Given the description of an element on the screen output the (x, y) to click on. 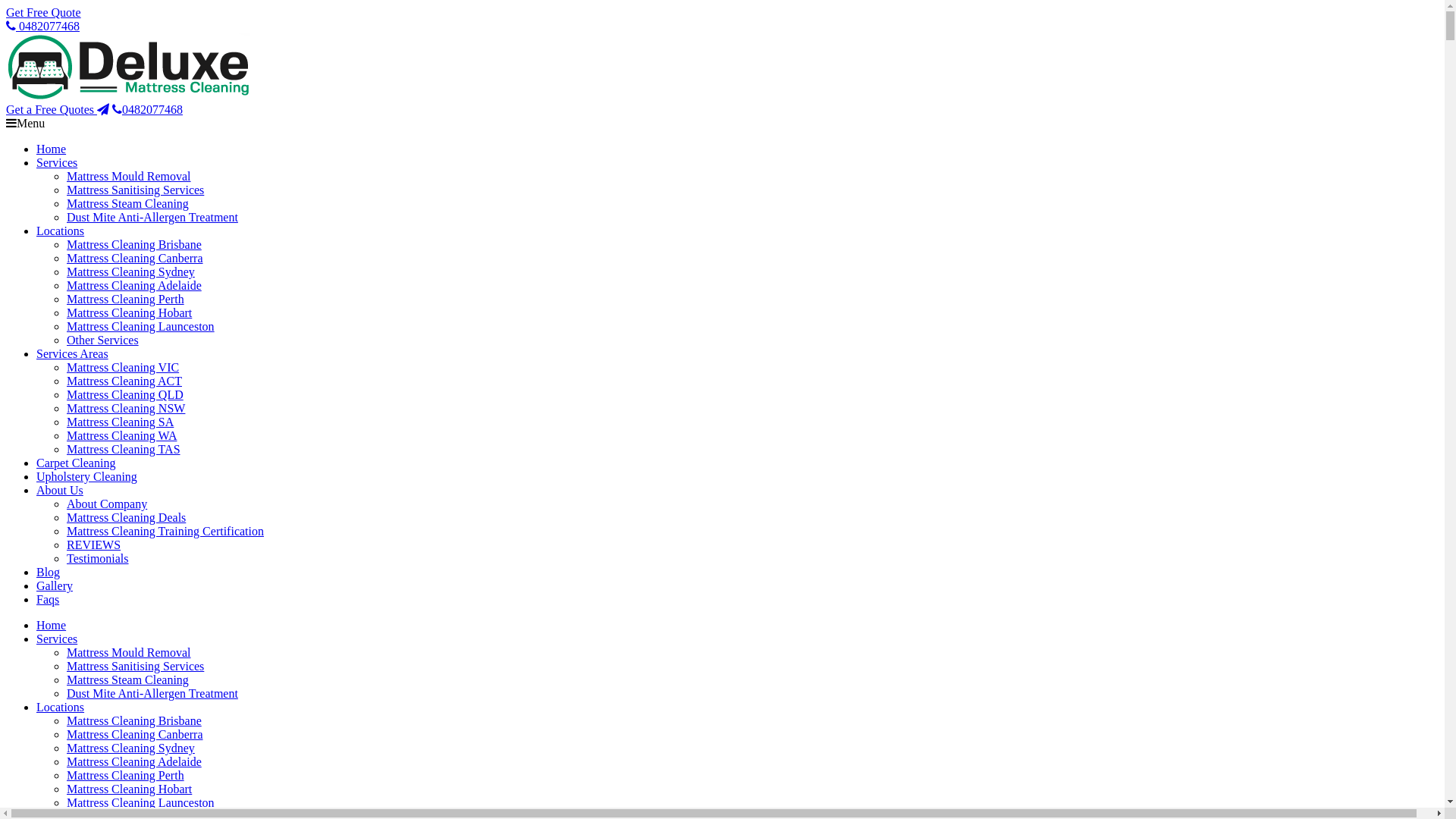
Mattress Cleaning Sydney Element type: text (130, 747)
Services Areas Element type: text (72, 353)
Home Element type: text (50, 624)
Mattress Cleaning Brisbane Element type: text (133, 720)
Mattress Cleaning Adelaide Element type: text (133, 761)
Locations Element type: text (60, 230)
Carpet Cleaning Element type: text (75, 462)
Blog Element type: text (47, 571)
Mattress Cleaning QLD Element type: text (124, 394)
Testimonials Element type: text (97, 558)
Mattress Cleaning Brisbane Element type: text (133, 244)
Mattress Cleaning Canberra Element type: text (134, 734)
Mattress Cleaning Hobart Element type: text (128, 312)
About Us Element type: text (59, 489)
Locations Element type: text (60, 706)
0482077468 Element type: text (42, 25)
Mattress Cleaning Adelaide Element type: text (133, 285)
Services Element type: text (56, 638)
Mattress Cleaning ACT Element type: text (124, 380)
Mattress Cleaning TAS Element type: text (123, 448)
Mattress Cleaning NSW Element type: text (125, 407)
Mattress Cleaning Canberra Element type: text (134, 257)
Mattress Cleaning SA Element type: text (119, 421)
Mattress Cleaning VIC Element type: text (122, 366)
Mattress Cleaning Hobart Element type: text (128, 788)
Upholstery Cleaning Element type: text (86, 476)
Mattress Cleaning Perth Element type: text (125, 298)
Mattress Cleaning Training Certification Element type: text (164, 530)
0482077468 Element type: text (147, 109)
Mattress Sanitising Services Element type: text (134, 189)
Mattress Mould Removal Element type: text (128, 652)
Faqs Element type: text (47, 599)
Mattress Cleaning Sydney Element type: text (130, 271)
Mattress Cleaning WA Element type: text (121, 435)
Get Free Quote Element type: text (43, 12)
About Company Element type: text (106, 503)
Gallery Element type: text (54, 585)
Mattress Mould Removal Element type: text (128, 175)
Mattress Cleaning Deals Element type: text (125, 517)
Mattress Cleaning Launceston Element type: text (140, 326)
Other Services Element type: text (102, 339)
Get a Free Quotes Element type: text (57, 109)
Dust Mite Anti-Allergen Treatment Element type: text (152, 216)
Mattress Cleaning Perth Element type: text (125, 774)
REVIEWS Element type: text (93, 544)
Mattress Sanitising Services Element type: text (134, 665)
Services Element type: text (56, 162)
Mattress Steam Cleaning Element type: text (127, 203)
Mattress Steam Cleaning Element type: text (127, 679)
Home Element type: text (50, 148)
Menu Element type: text (25, 122)
Mattress Cleaning Launceston Element type: text (140, 802)
Dust Mite Anti-Allergen Treatment Element type: text (152, 693)
